Given the description of an element on the screen output the (x, y) to click on. 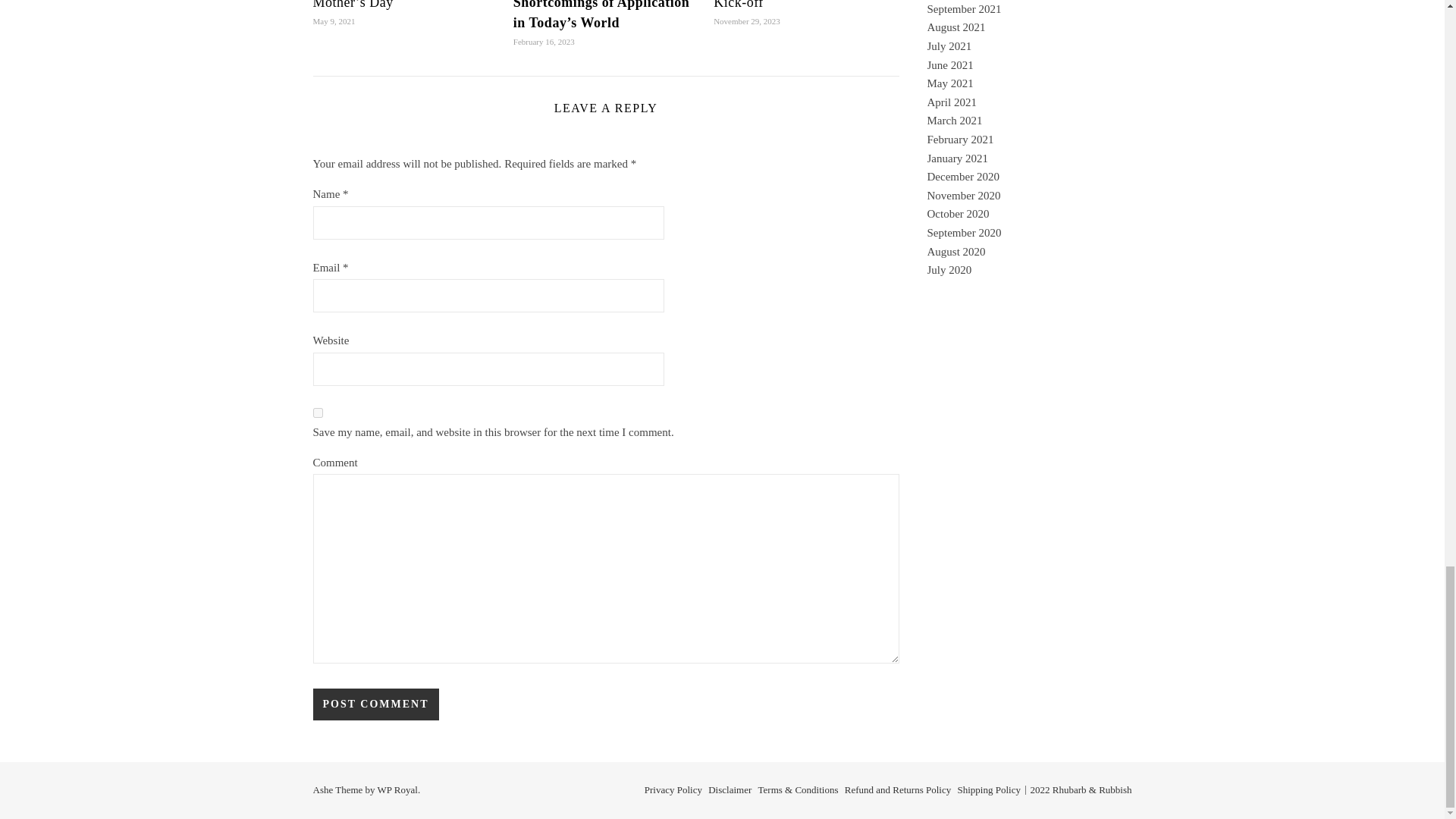
yes (317, 412)
Post Comment (375, 704)
